Given the description of an element on the screen output the (x, y) to click on. 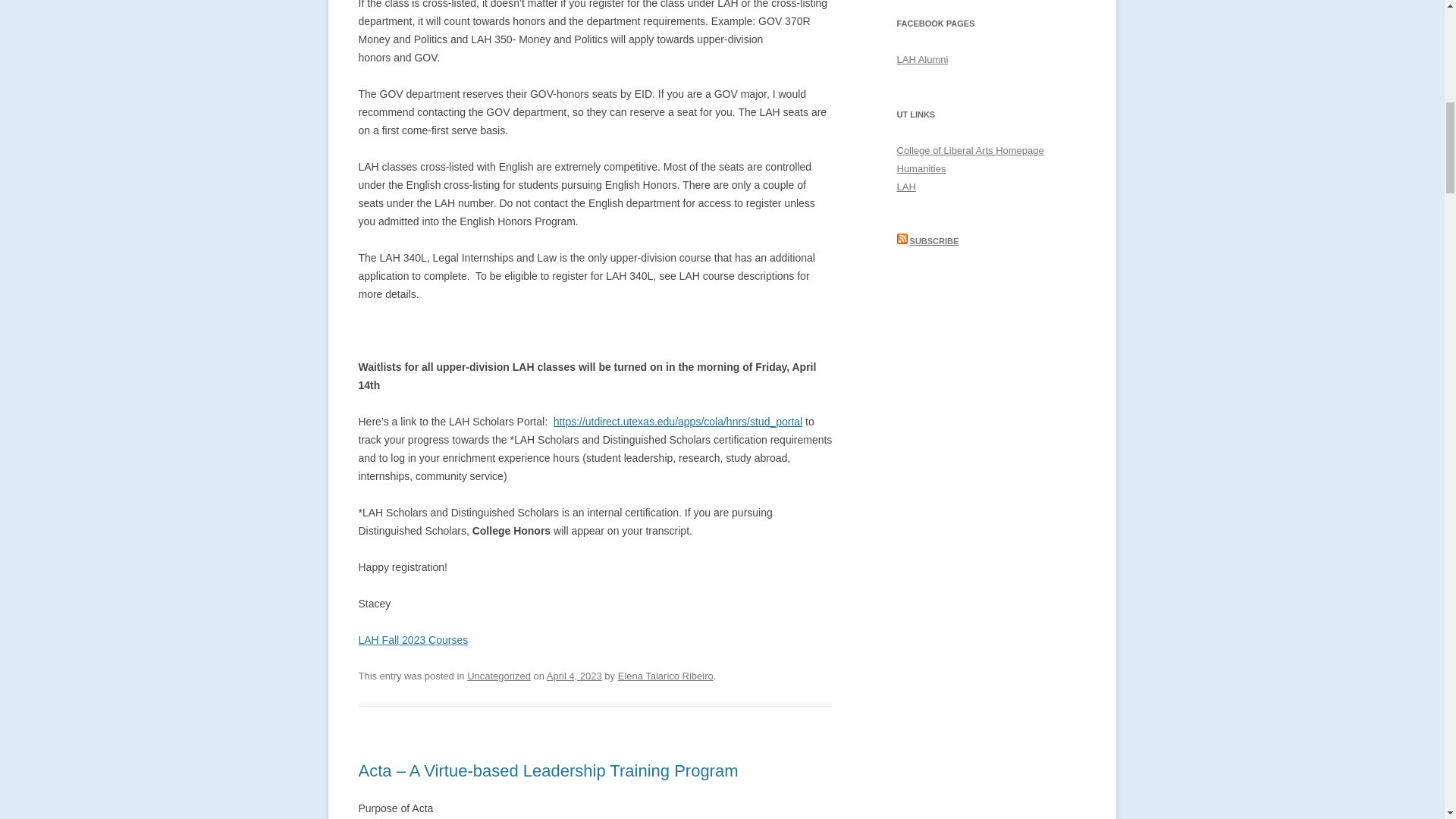
11:36 am (574, 675)
View all posts by Elena Talarico Ribeiro (665, 675)
LAH Fall 2023 Courses (412, 639)
April 4, 2023 (574, 675)
Elena Talarico Ribeiro (665, 675)
Uncategorized (499, 675)
